Given the description of an element on the screen output the (x, y) to click on. 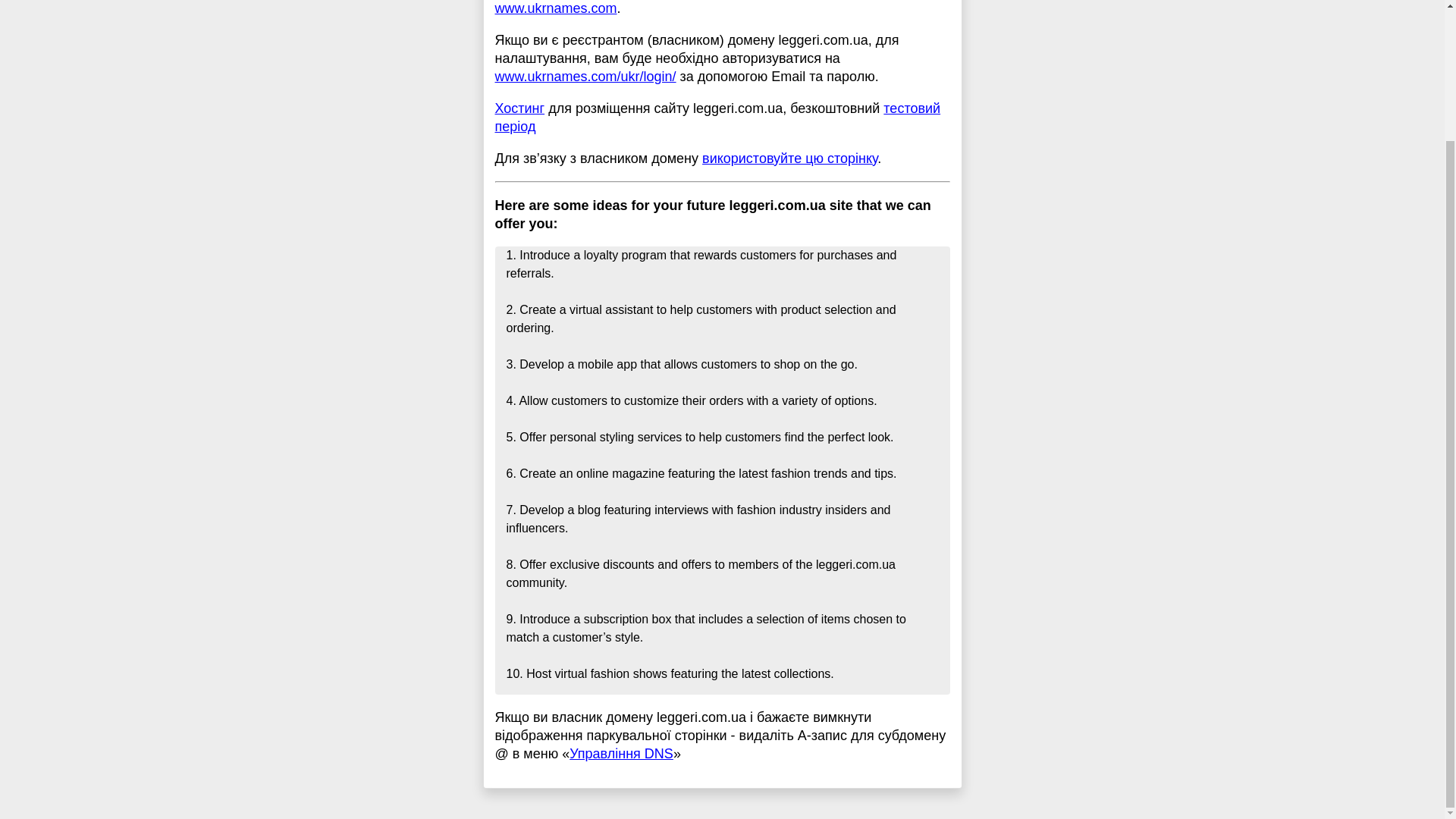
www.ukrnames.com (555, 7)
